Given the description of an element on the screen output the (x, y) to click on. 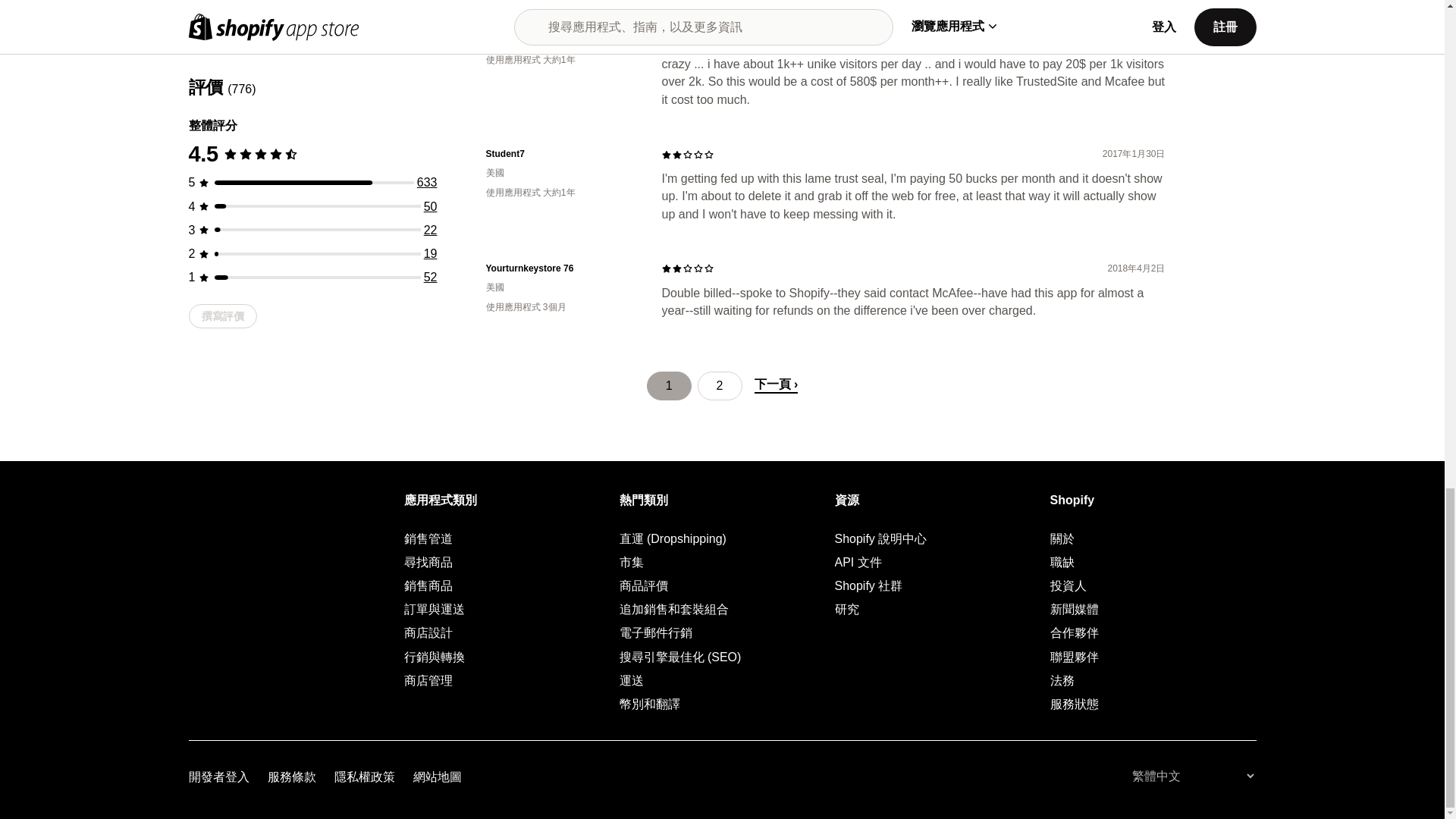
Msno (560, 21)
Yourturnkeystore 76 (560, 268)
Student7 (560, 154)
